Given the description of an element on the screen output the (x, y) to click on. 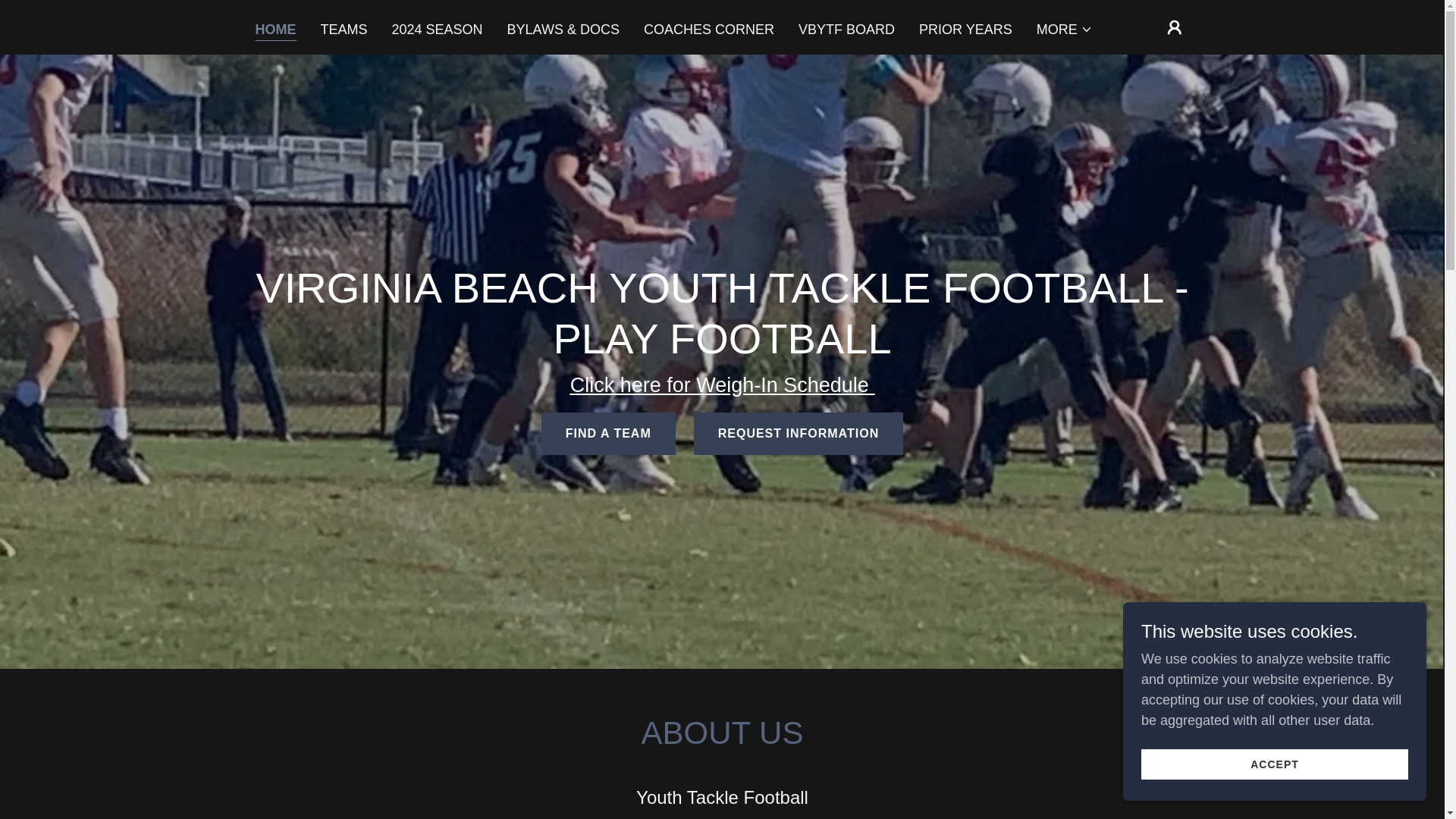
VBYTF BOARD (846, 28)
Click here for Weigh-In Schedule  (722, 384)
HOME (274, 29)
COACHES CORNER (708, 28)
FIND A TEAM (608, 433)
2024 SEASON (437, 28)
PRIOR YEARS (965, 28)
REQUEST INFORMATION (798, 433)
MORE (1064, 28)
TEAMS (343, 28)
